Given the description of an element on the screen output the (x, y) to click on. 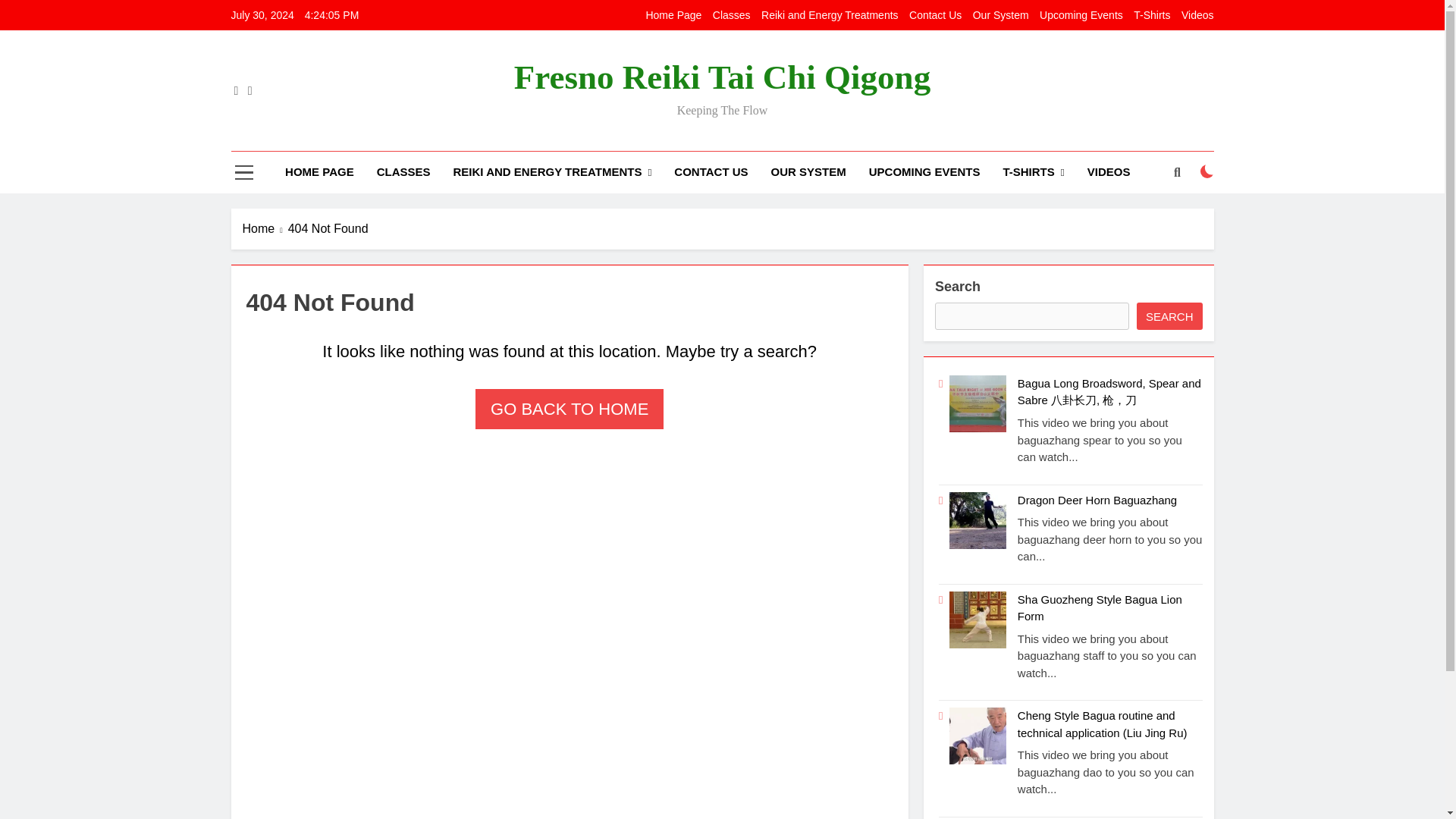
Videos (1197, 15)
GO BACK TO HOME (569, 409)
Dragon Deer Horn Baguazhang (1096, 499)
CLASSES (403, 171)
UPCOMING EVENTS (924, 171)
Home Page (673, 15)
Fresno Reiki Tai Chi Qigong (721, 77)
SEARCH (1169, 316)
VIDEOS (1108, 171)
HOME PAGE (319, 171)
Our System (1000, 15)
OUR SYSTEM (808, 171)
Upcoming Events (1080, 15)
Home (265, 229)
Classes (732, 15)
